Given the description of an element on the screen output the (x, y) to click on. 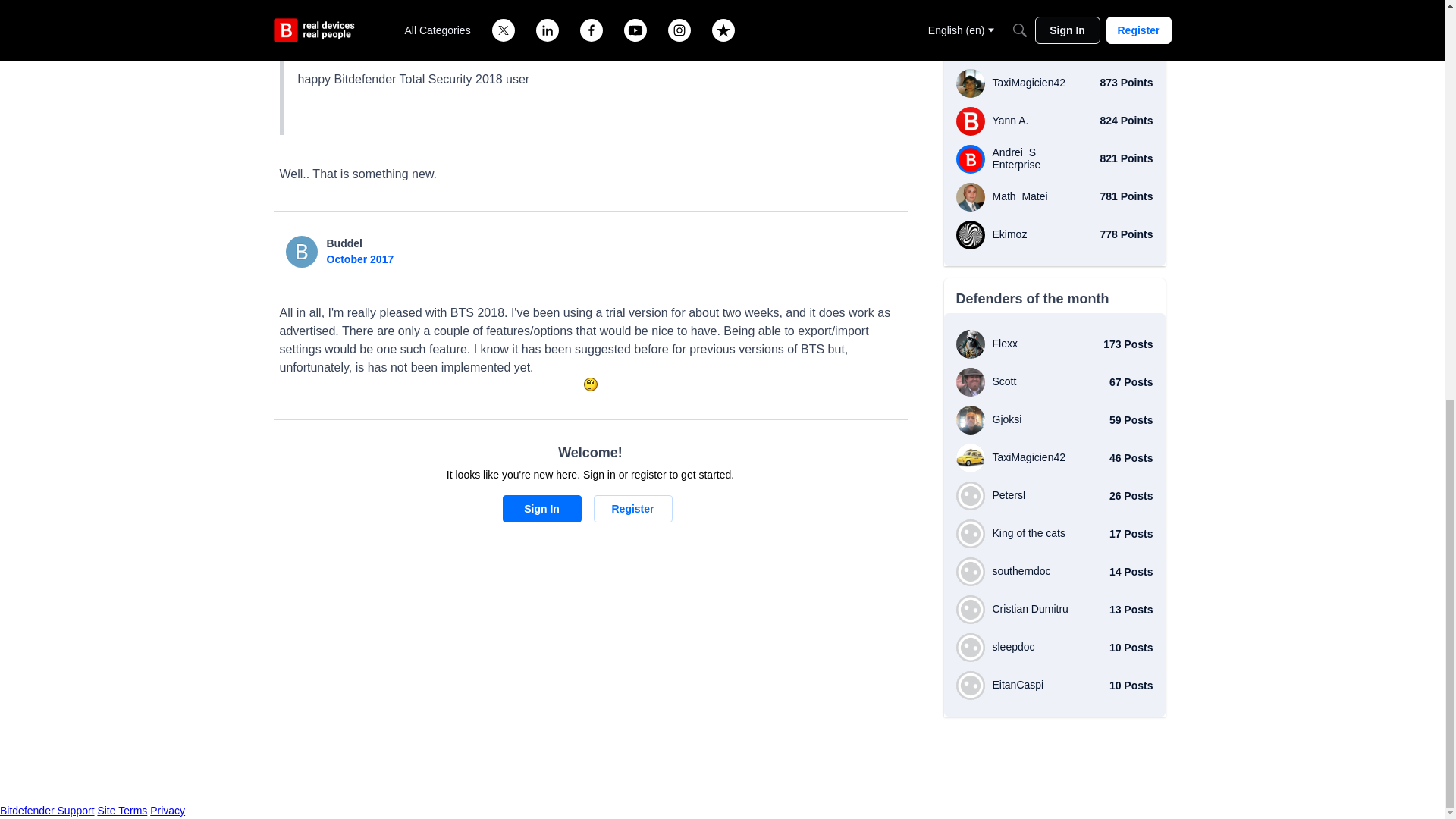
:unsure: (589, 384)
Buddel (343, 243)
Sign In (541, 508)
Register (631, 508)
Register (631, 508)
Sign In (541, 508)
Buddel (301, 251)
October 2017 (359, 259)
October 30, 2017 7:22PM (359, 259)
